Given the description of an element on the screen output the (x, y) to click on. 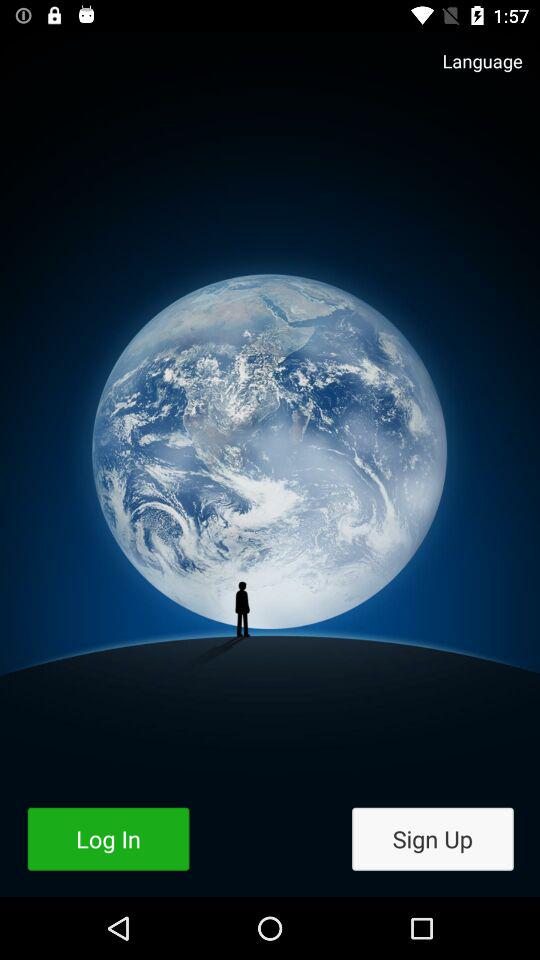
select the item at the bottom right corner (432, 838)
